Given the description of an element on the screen output the (x, y) to click on. 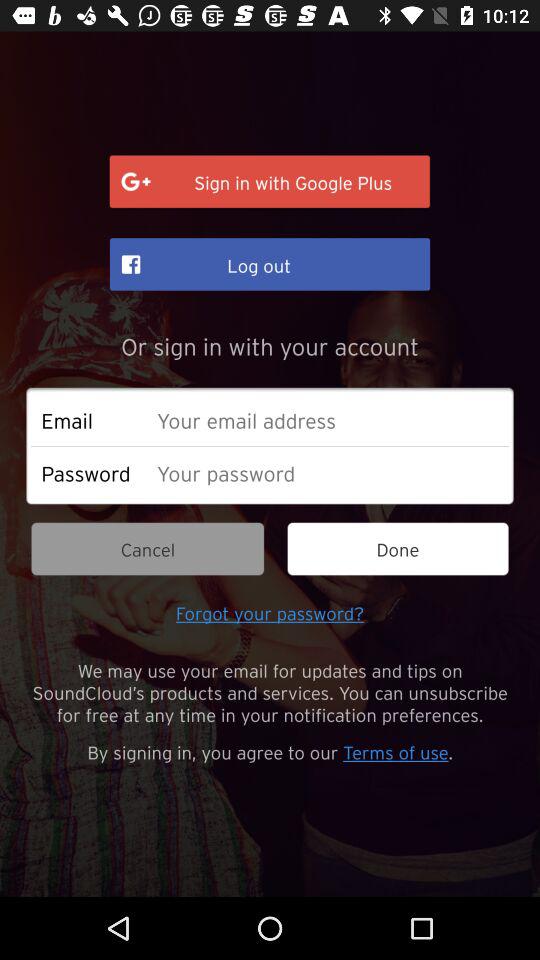
select item on the right (397, 548)
